Given the description of an element on the screen output the (x, y) to click on. 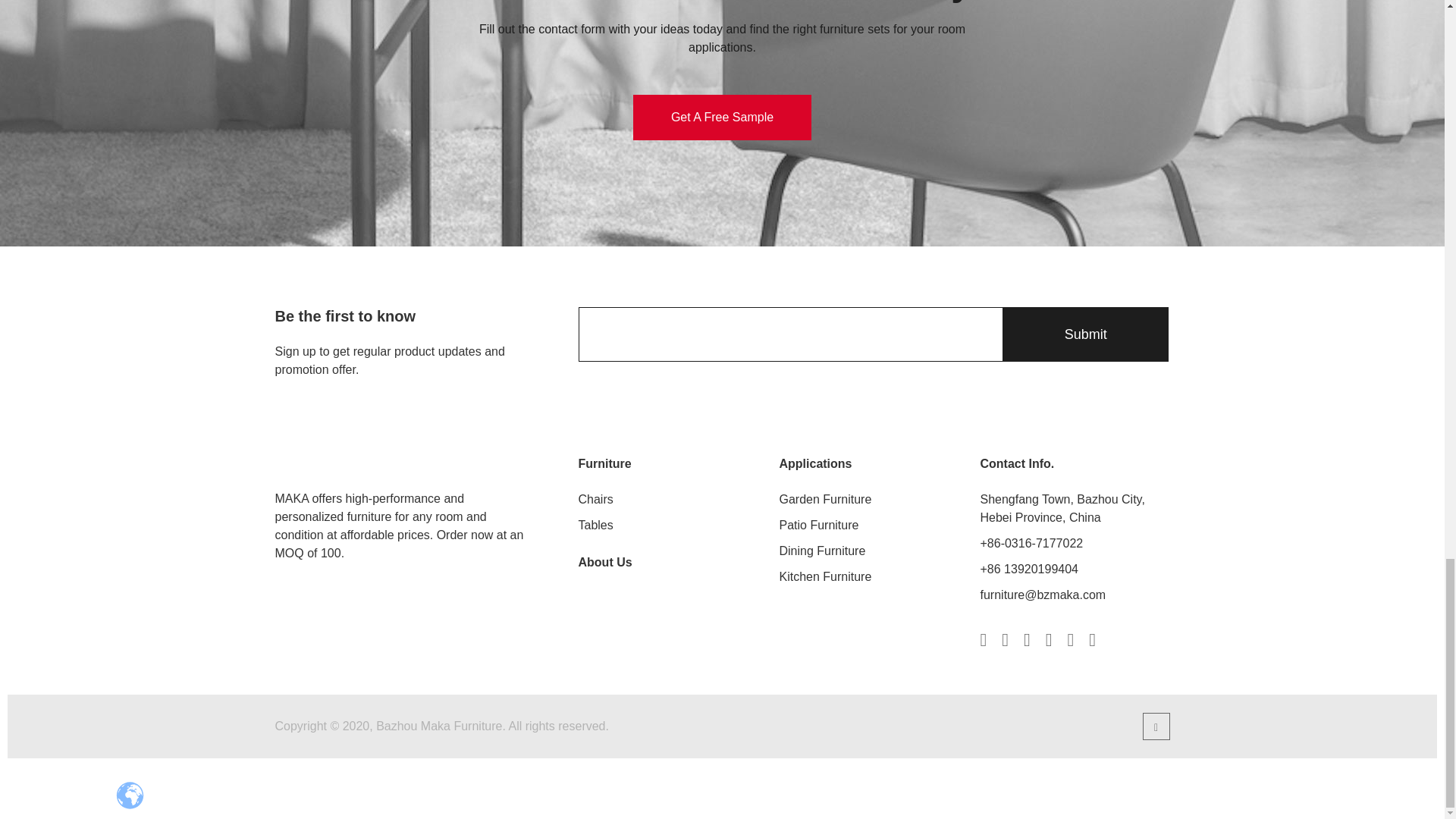
Submit (1085, 334)
Get A Free Sample (721, 117)
Furniture (604, 464)
Submit (1085, 334)
